Given the description of an element on the screen output the (x, y) to click on. 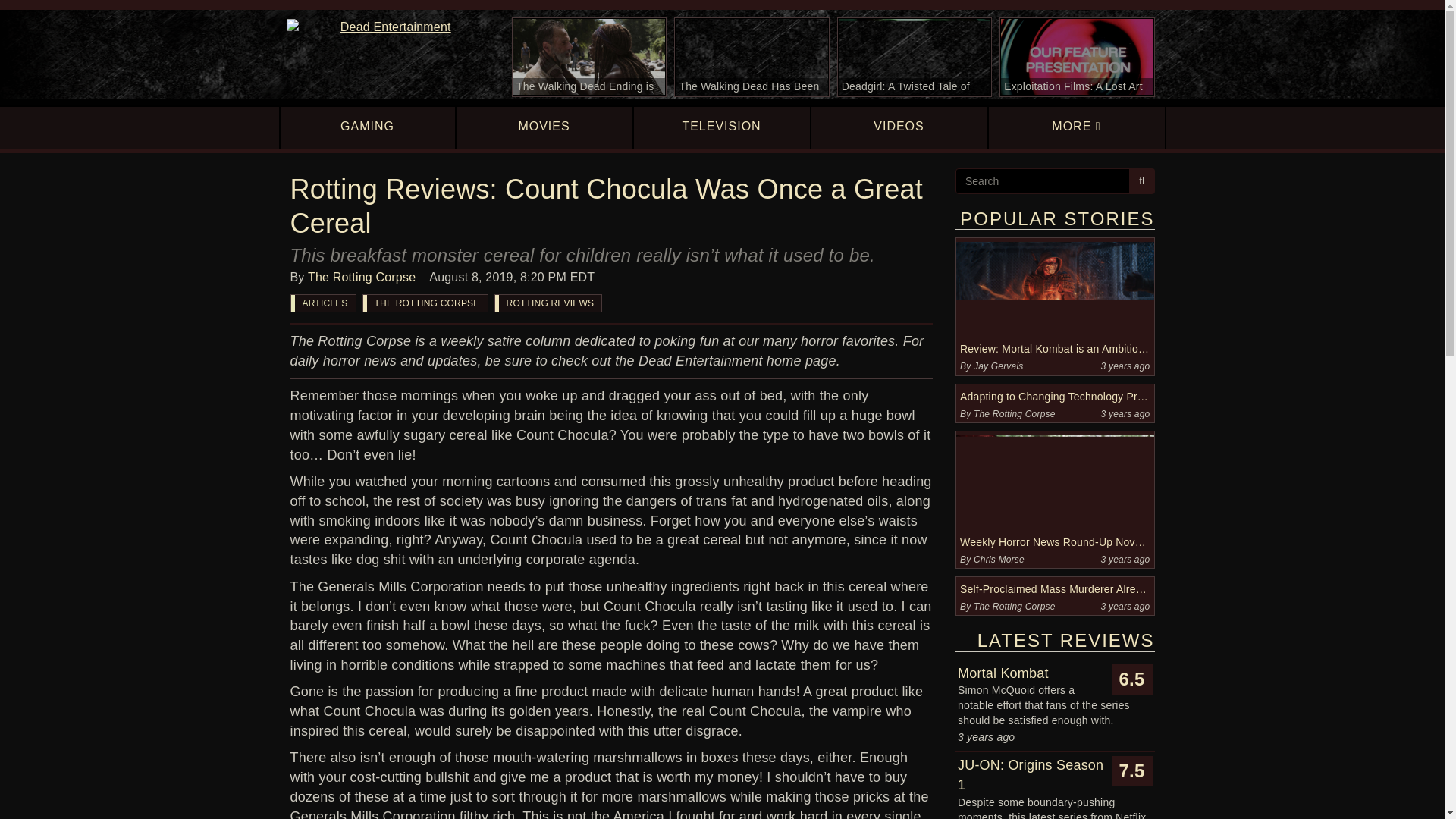
ROTTING REVIEWS (548, 303)
ARTICLES (323, 303)
Deadgirl: A Twisted Tale of Lust and "True" Love (914, 57)
THE ROTTING CORPSE (424, 303)
The Rotting Corpse (1014, 413)
Jay Gervais (998, 366)
The Rotting Corpse (360, 277)
